Given the description of an element on the screen output the (x, y) to click on. 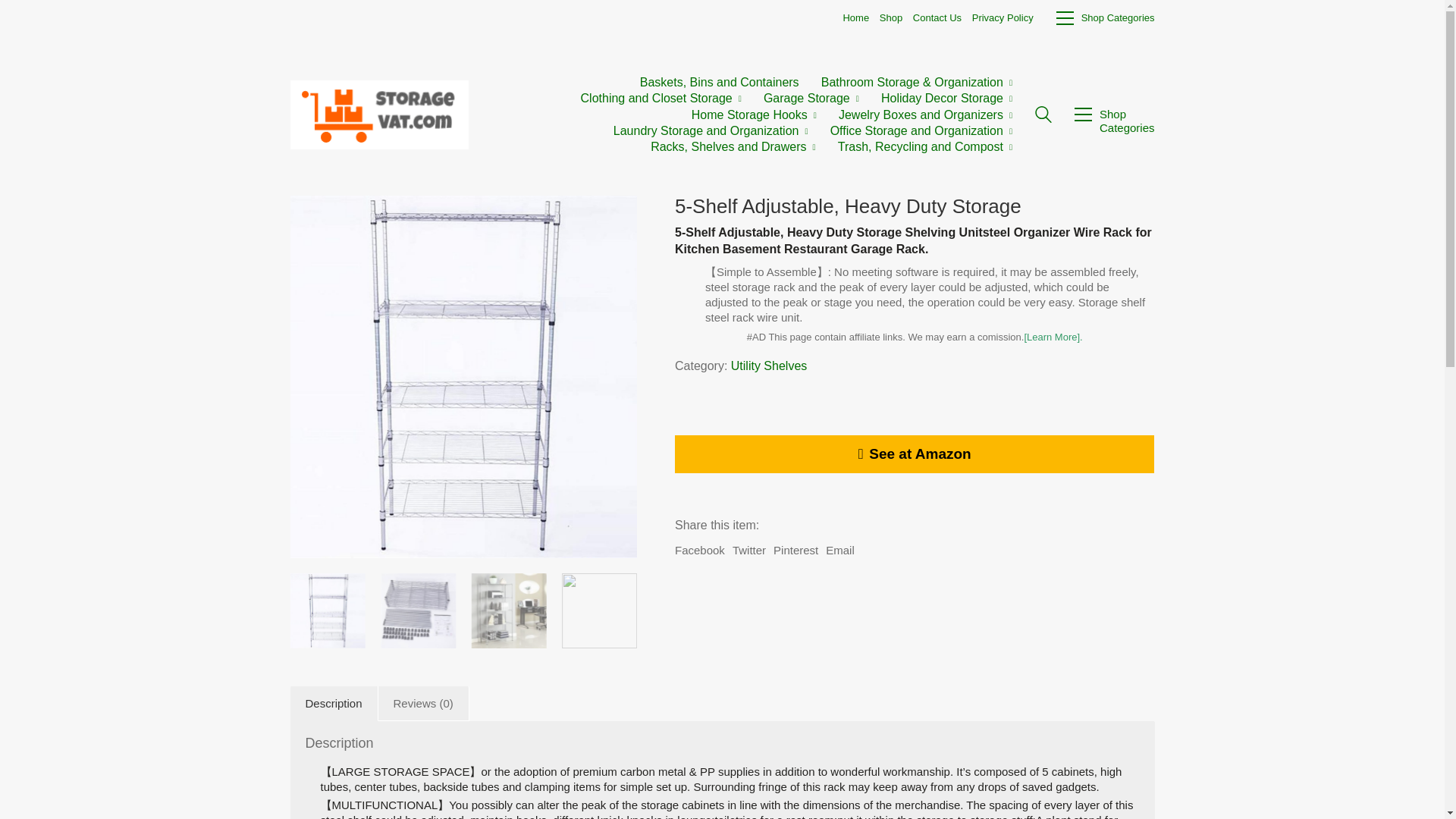
51F8ZFsGyuL.SL1500 (508, 610)
5-Shelf Adjustable, Heavy Duty Storage (463, 376)
5-Shelf Adjustable, Heavy Duty Storage (327, 610)
51m0u7JT9vL.SL1500 (417, 610)
41VC2e6zkL.SL1500 (599, 610)
